Given the description of an element on the screen output the (x, y) to click on. 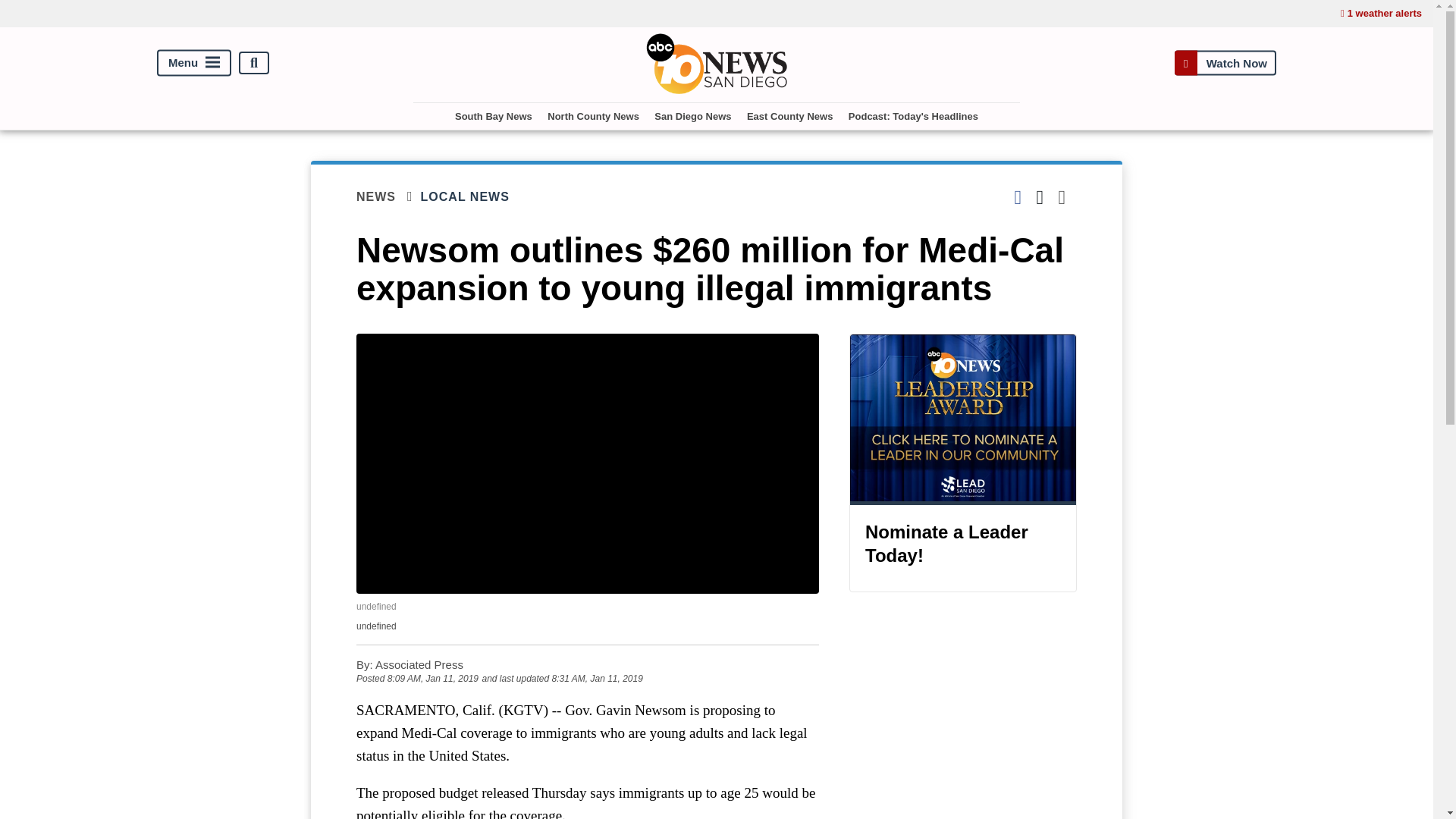
Watch Now (1224, 62)
Menu (194, 62)
